Given the description of an element on the screen output the (x, y) to click on. 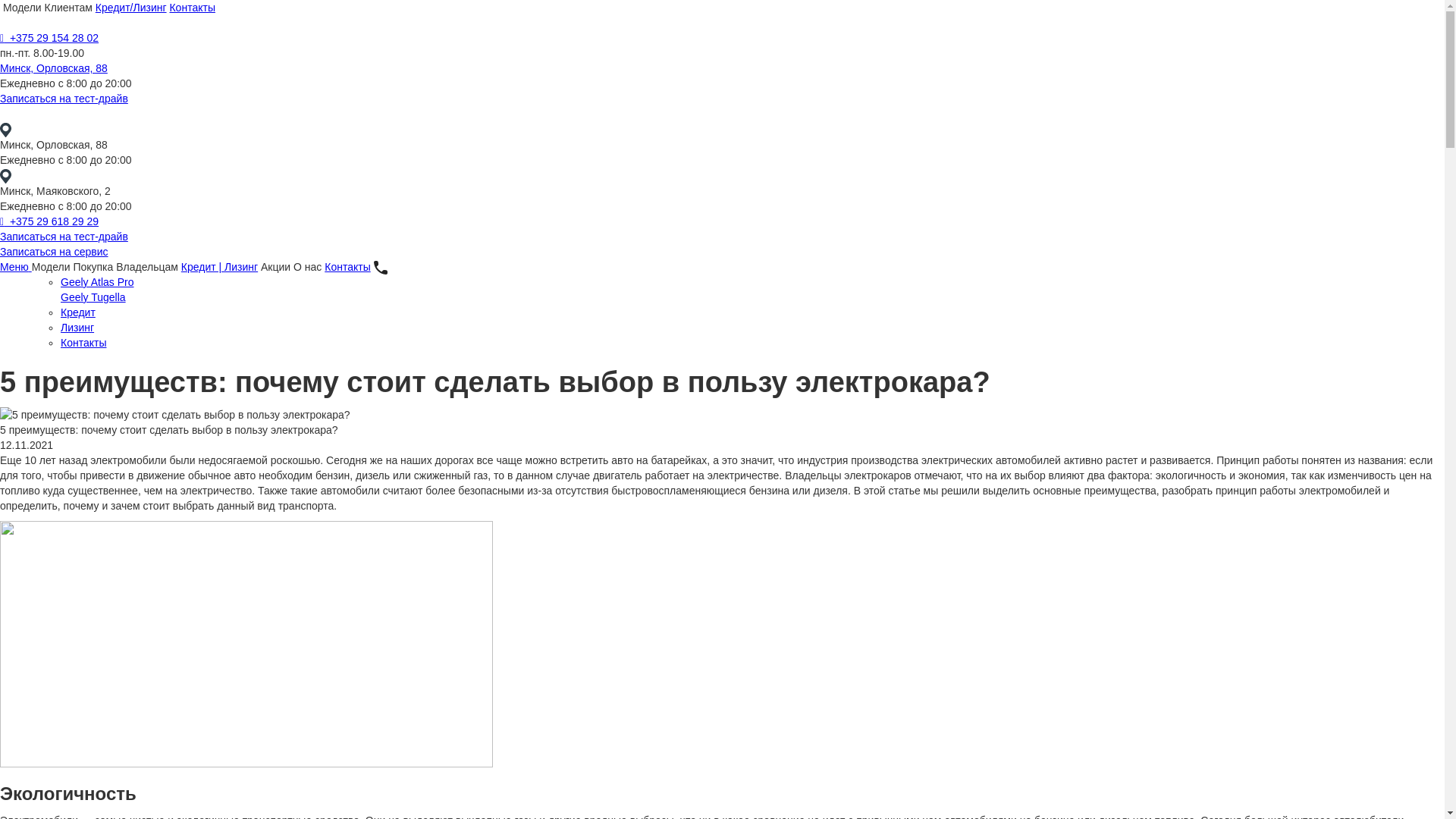
Geely Atlas Pro Element type: text (97, 282)
Geely Tugella Element type: text (92, 297)
